Given the description of an element on the screen output the (x, y) to click on. 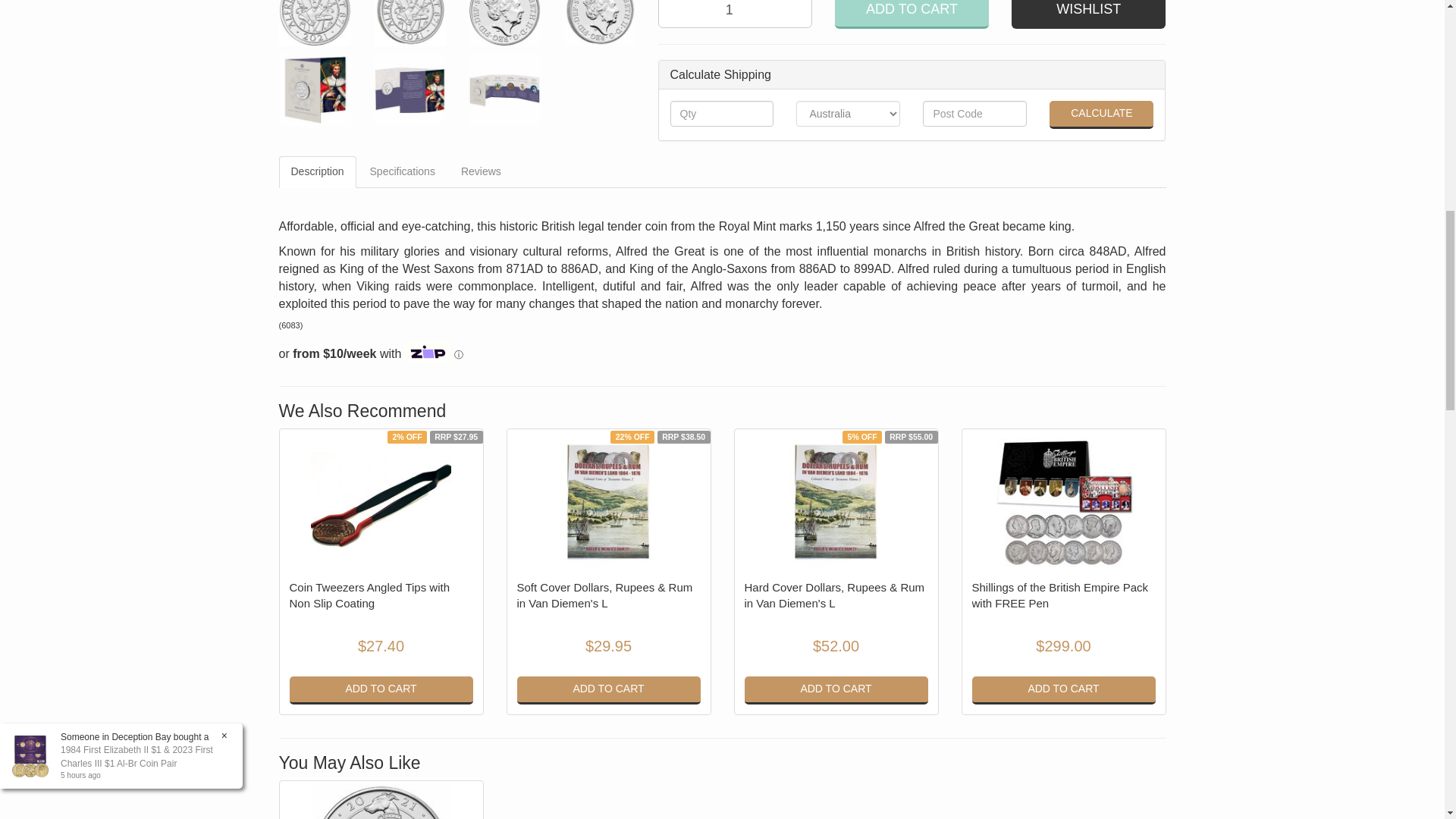
Large View (408, 90)
Large View (504, 22)
1 (735, 13)
Add To Wishlist (1088, 14)
Large View (504, 90)
Calculate (1101, 114)
Large View (598, 22)
Large View (408, 22)
Large View (314, 22)
Large View (314, 90)
